Given the description of an element on the screen output the (x, y) to click on. 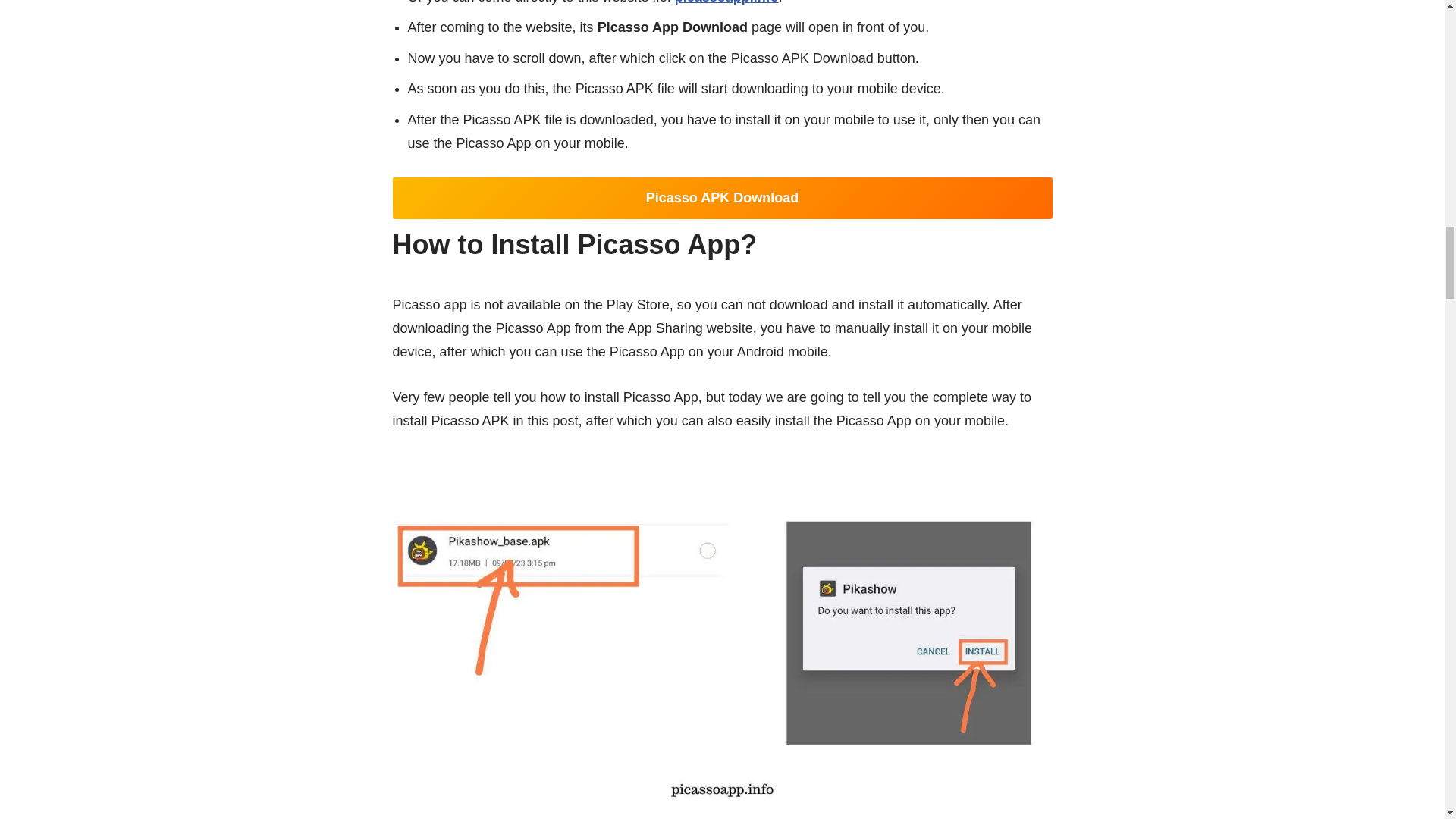
picassoapp.info (726, 2)
Picasso APK Download (722, 198)
